Given the description of an element on the screen output the (x, y) to click on. 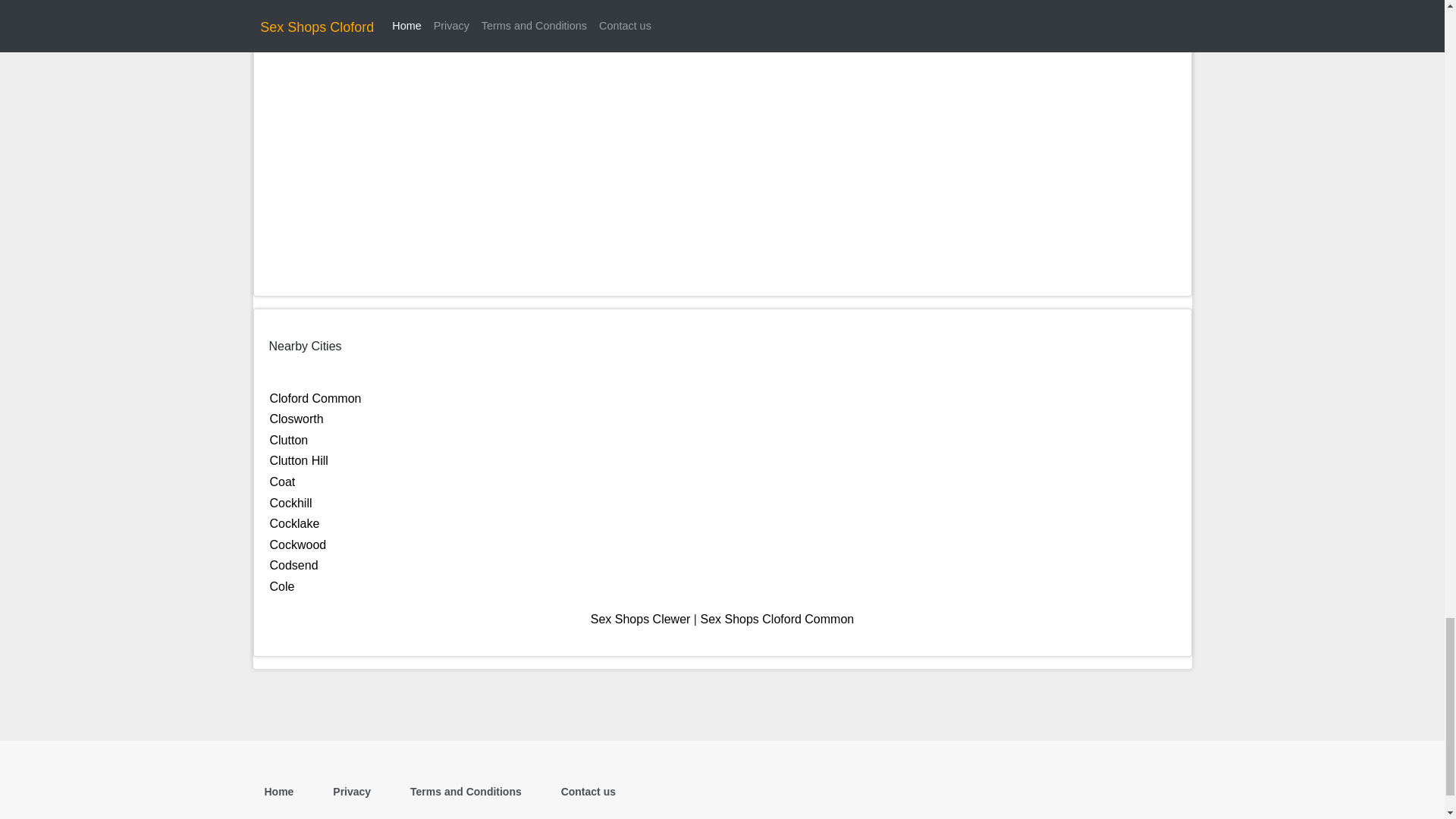
Cocklake (294, 522)
Clutton Hill (299, 460)
Sex Shops Cloford Common (776, 618)
Cockhill (291, 502)
Closworth (296, 418)
Cole (282, 585)
Codsend (293, 564)
Cockwood (297, 544)
Cloford Common (315, 398)
Coat (282, 481)
Sex Shops Clewer (640, 618)
Clutton (288, 440)
